Given the description of an element on the screen output the (x, y) to click on. 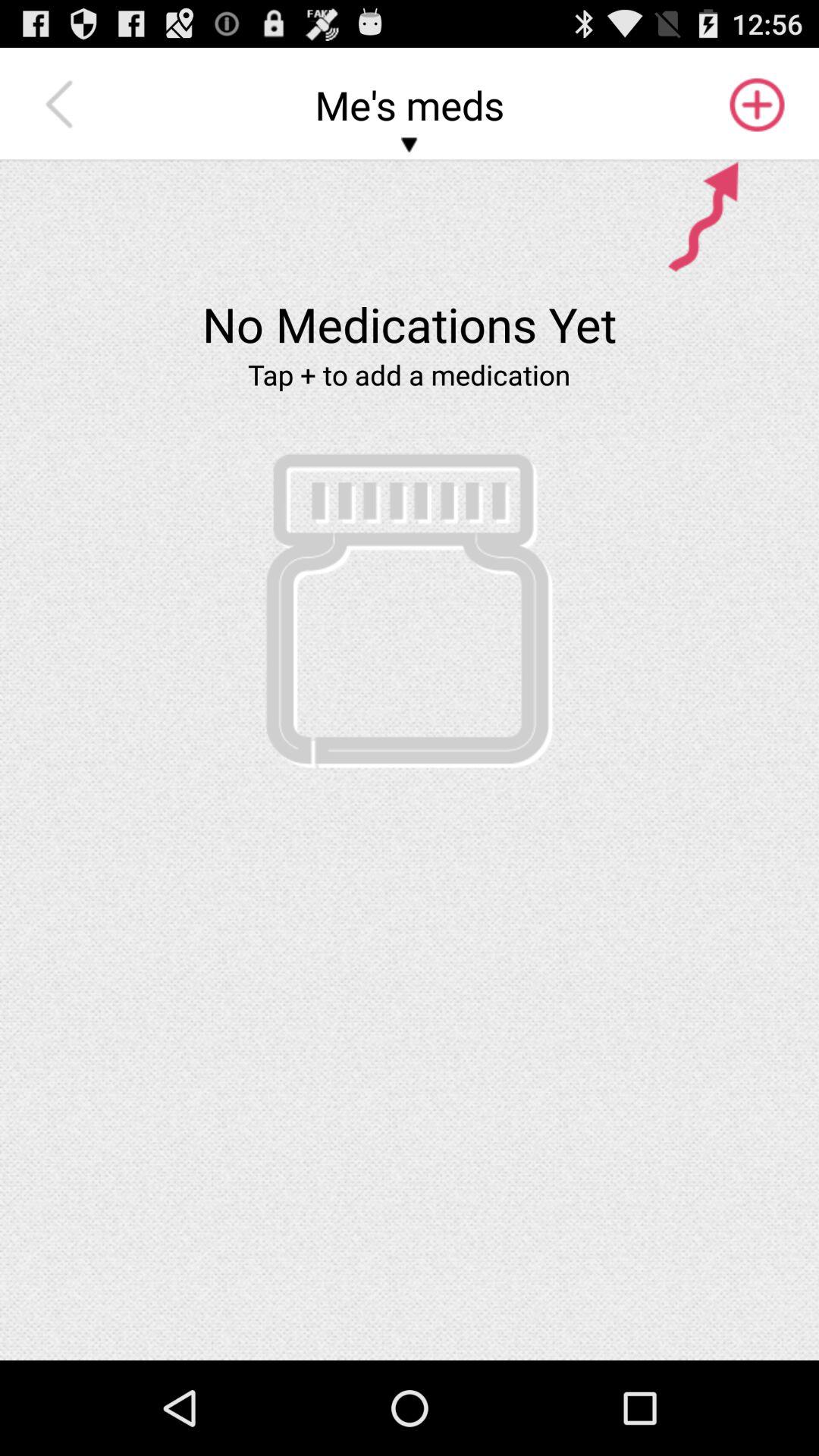
press icon at the top left corner (63, 104)
